Given the description of an element on the screen output the (x, y) to click on. 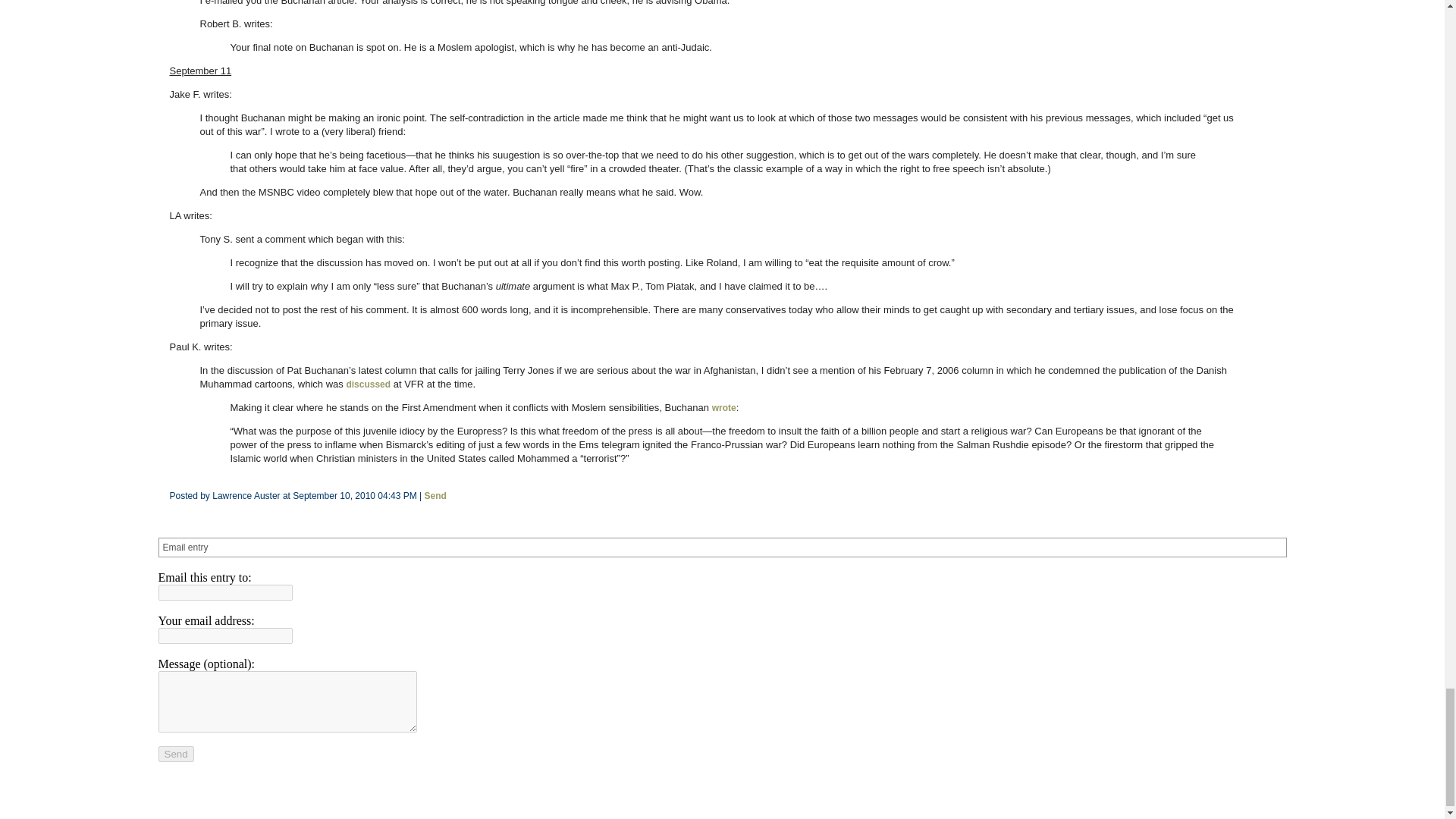
Send (175, 754)
wrote (723, 407)
Send (435, 495)
discussed (368, 384)
Send (175, 754)
